Given the description of an element on the screen output the (x, y) to click on. 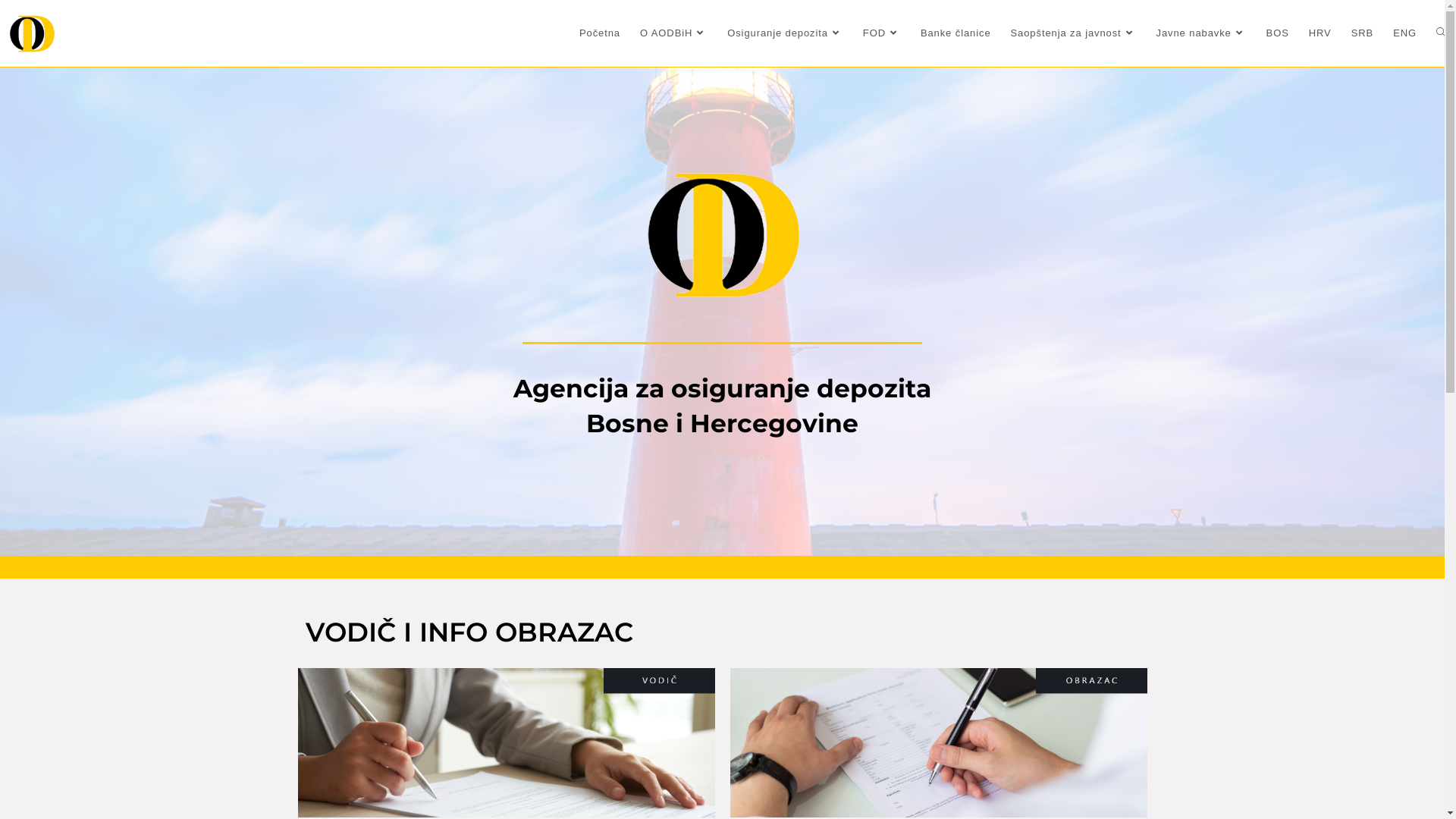
HRV Element type: text (1320, 33)
SRB Element type: text (1362, 33)
BOS Element type: text (1277, 33)
FOD Element type: text (881, 33)
O AODBiH Element type: text (673, 33)
aod_logo Element type: hover (721, 232)
ENG Element type: text (1404, 33)
Javne nabavke Element type: text (1201, 33)
Osiguranje depozita Element type: text (785, 33)
